Given the description of an element on the screen output the (x, y) to click on. 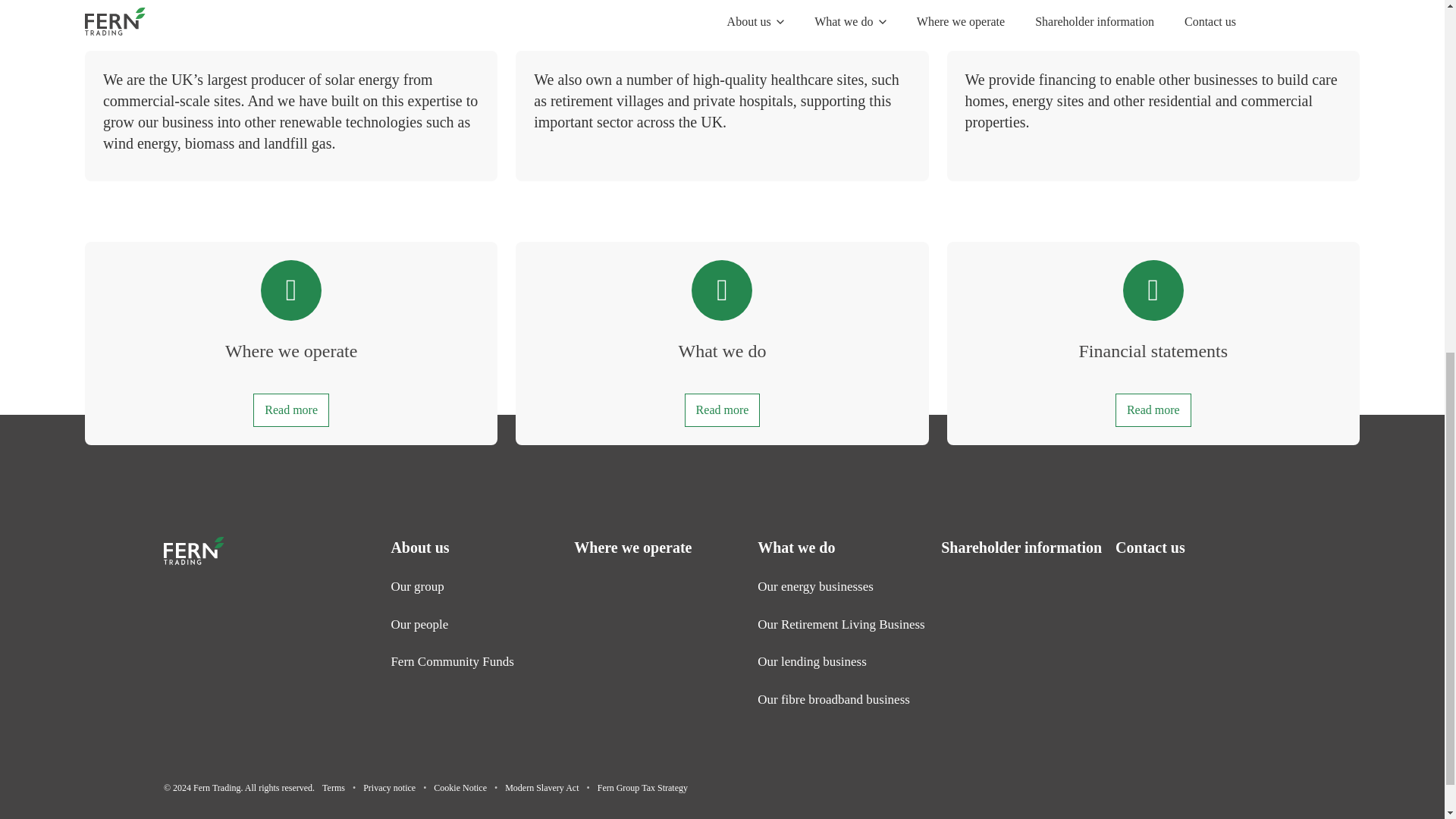
Our people (419, 623)
Our group (417, 586)
Read more (291, 409)
Read more (1153, 409)
About us (419, 547)
Read more (722, 409)
